Given the description of an element on the screen output the (x, y) to click on. 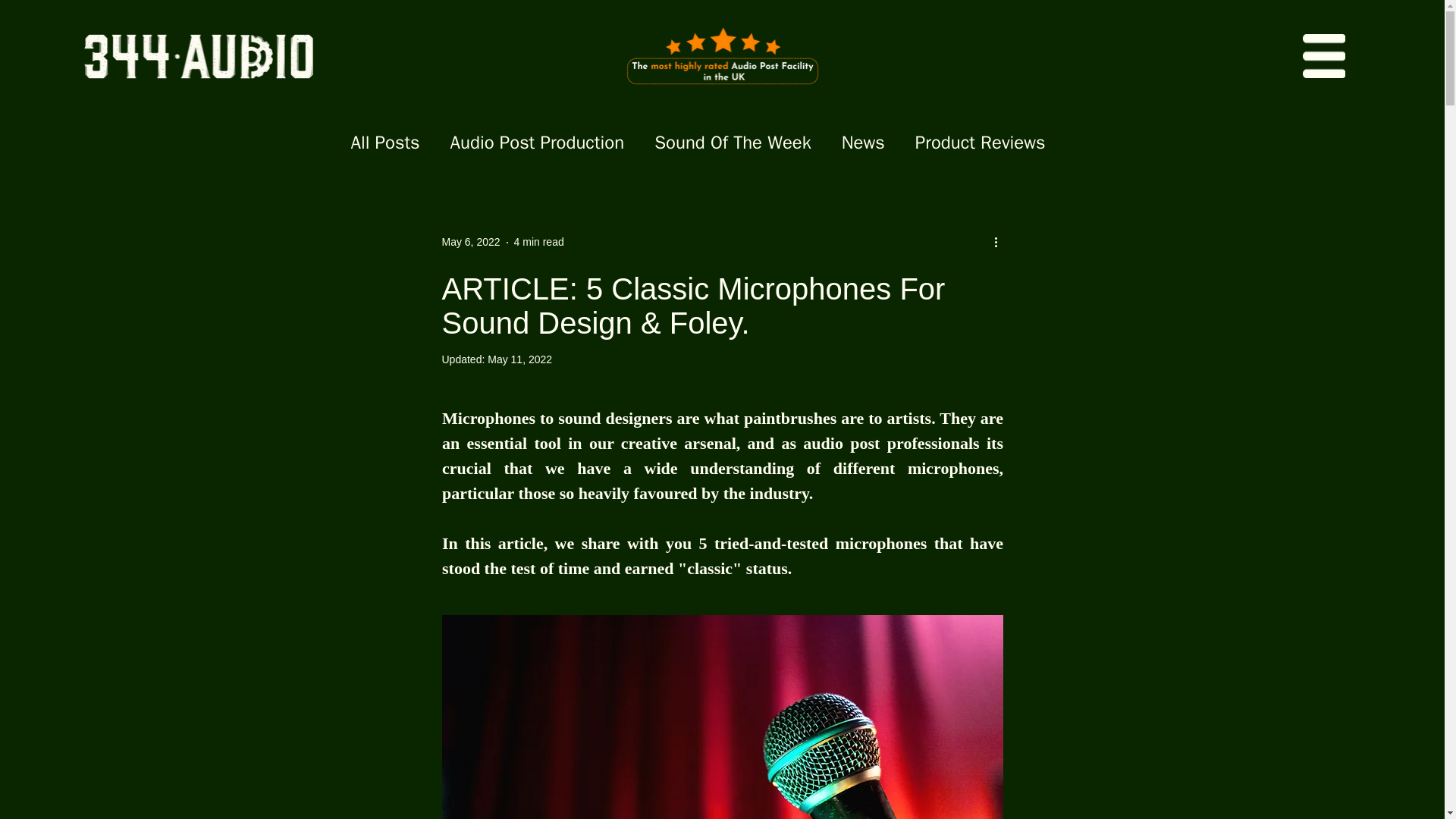
Audio Post Production (536, 142)
Product Reviews (980, 142)
Sound Of The Week (731, 142)
All Posts (384, 142)
News (863, 142)
4 min read (538, 241)
May 6, 2022 (470, 241)
May 11, 2022 (519, 358)
